Given the description of an element on the screen output the (x, y) to click on. 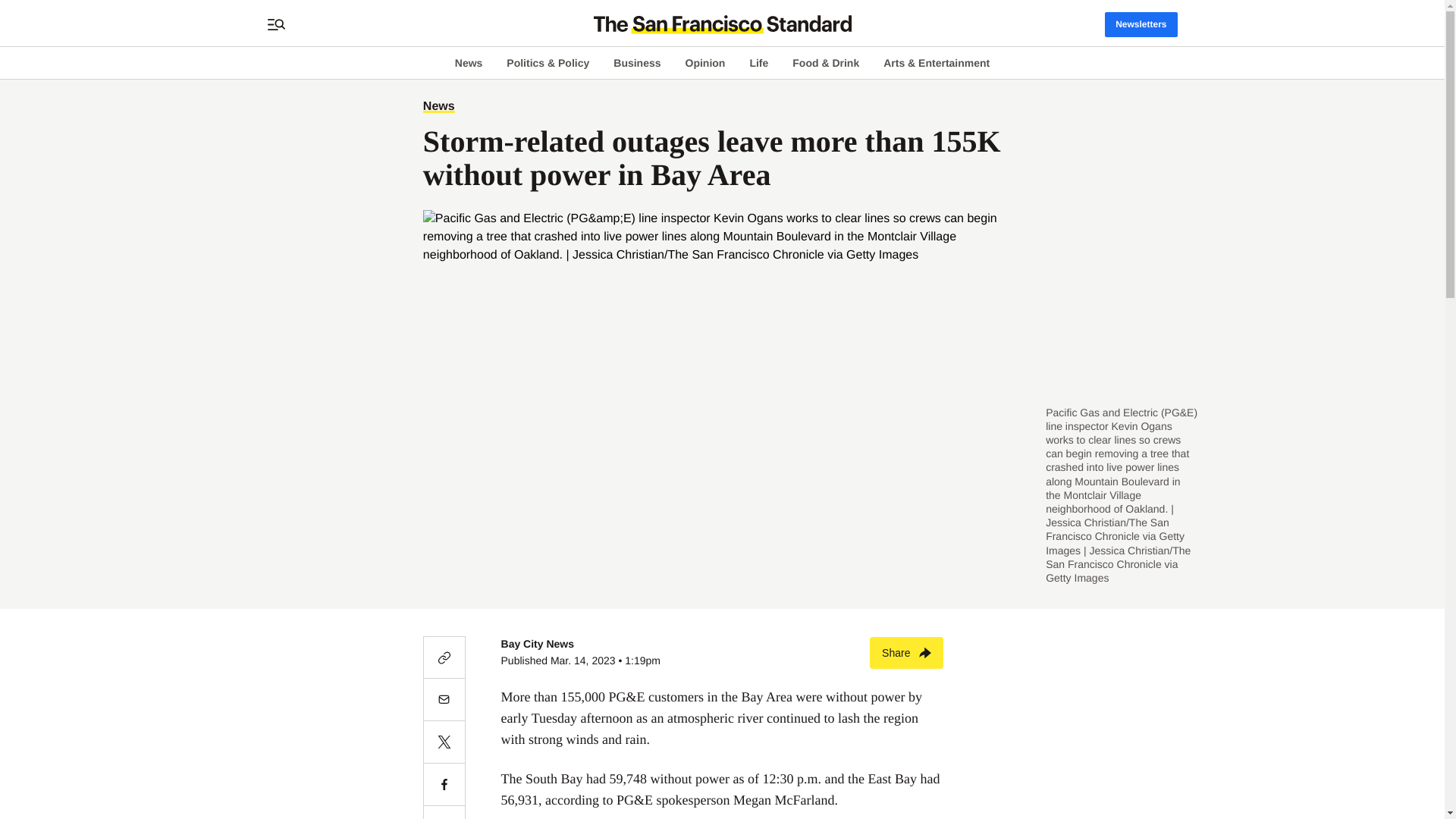
Copy link to this article (444, 657)
Open search bar and full menu (275, 24)
Share (906, 653)
Newsletters (1140, 24)
Opinion (705, 62)
Business (636, 62)
News (468, 62)
Life (758, 62)
News (438, 106)
